Given the description of an element on the screen output the (x, y) to click on. 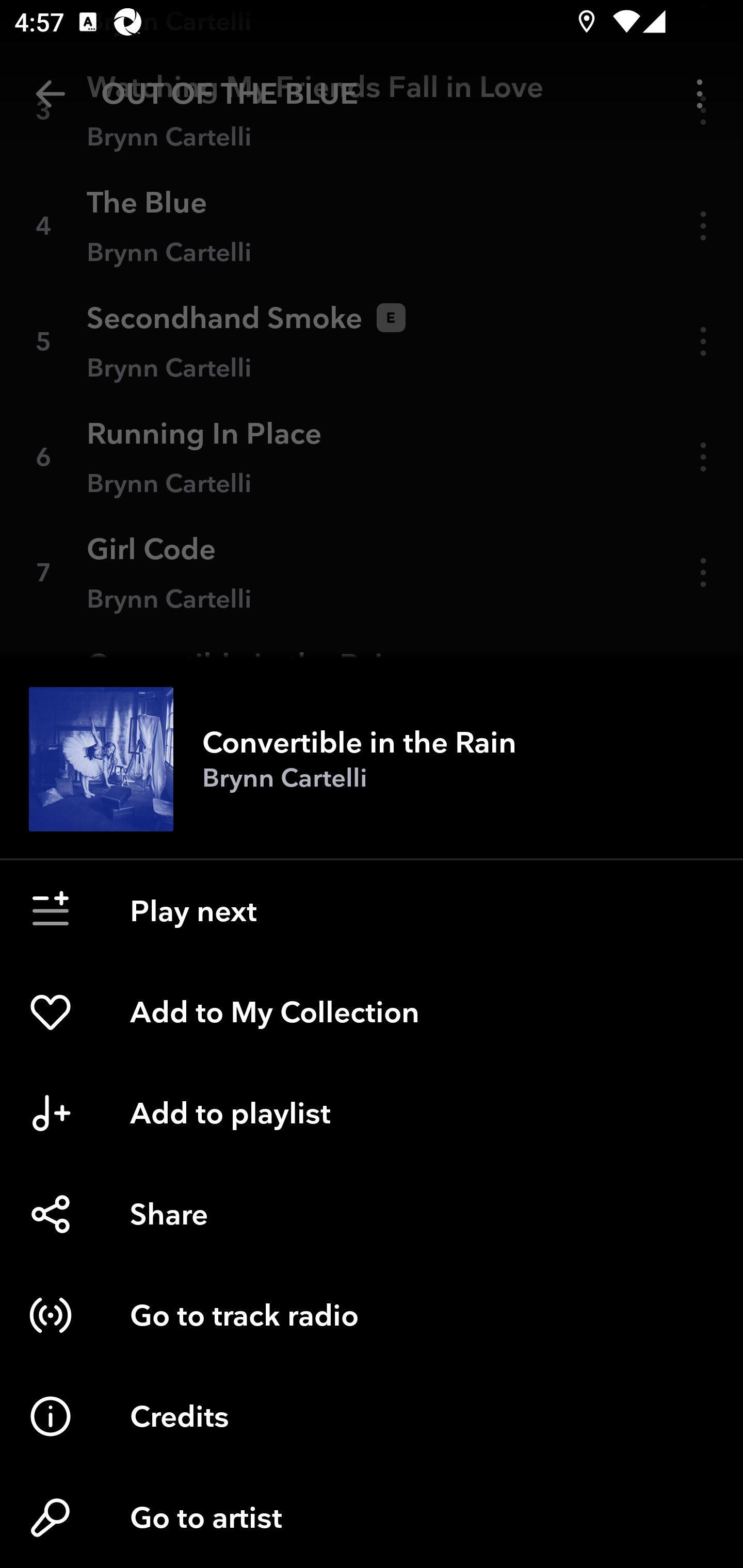
Play next (371, 910)
Add to My Collection (371, 1012)
Add to playlist (371, 1113)
Share (371, 1214)
Go to track radio (371, 1315)
Credits (371, 1416)
Go to artist (371, 1517)
